Given the description of an element on the screen output the (x, y) to click on. 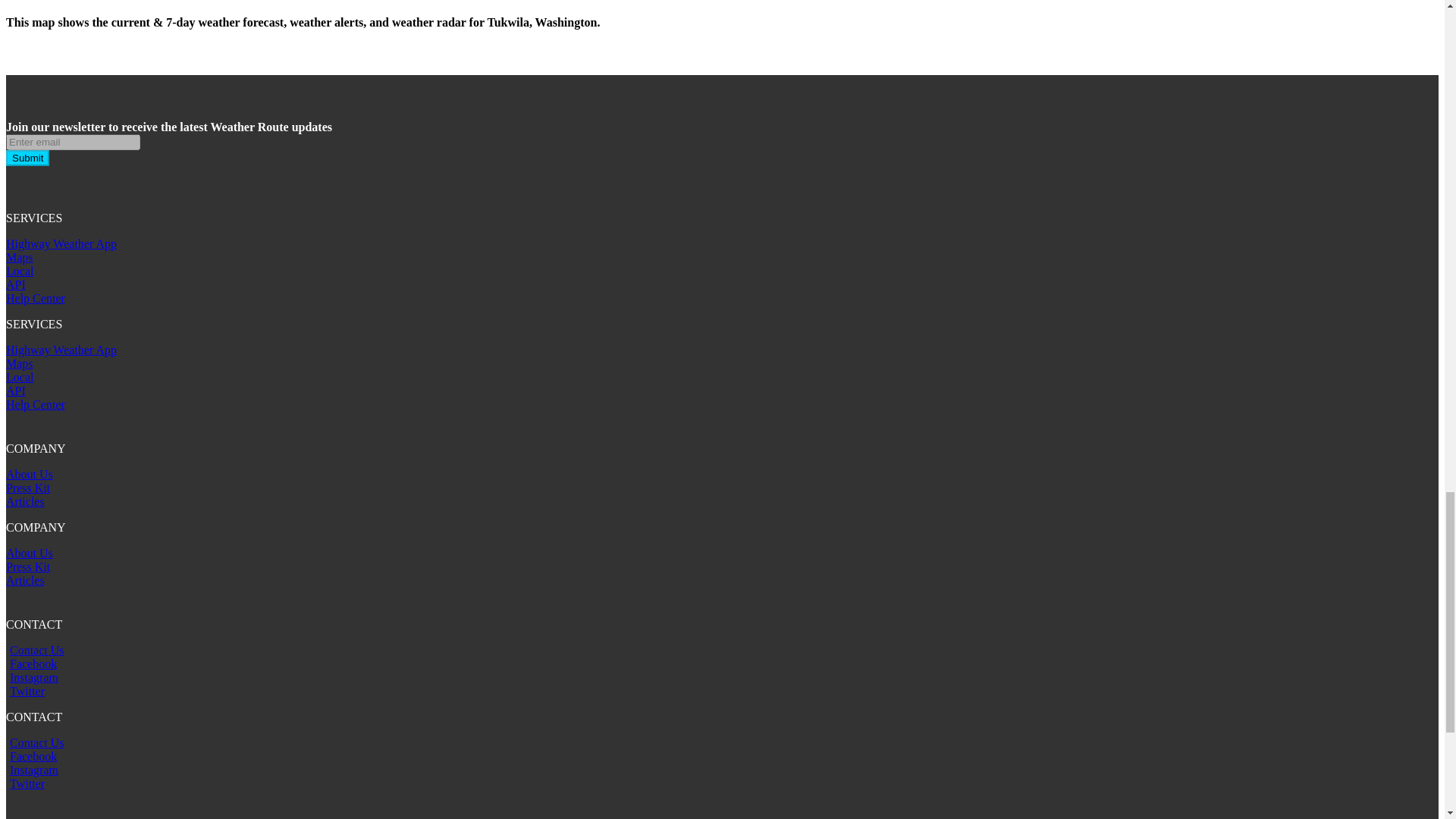
Maps (19, 363)
Help Center (35, 297)
Help Center (35, 404)
Highway Weather App (60, 243)
Press Kit (27, 566)
About Us (28, 473)
Maps (19, 256)
Highway Weather App (60, 349)
Twitter (27, 690)
API (15, 390)
Instagram (34, 769)
Contact Us (37, 742)
Contact Us (37, 649)
Instagram (34, 676)
Articles (25, 580)
